Given the description of an element on the screen output the (x, y) to click on. 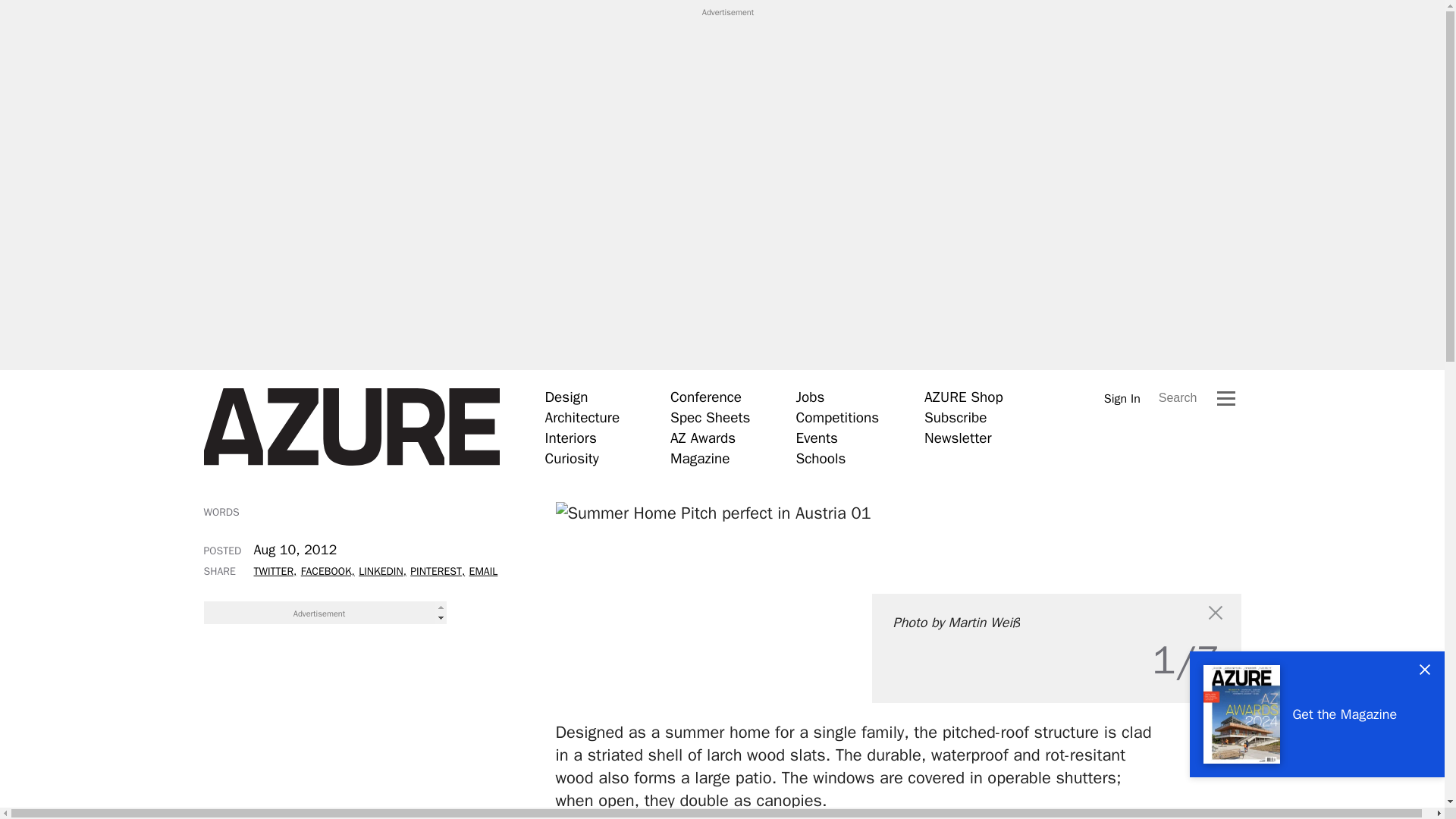
AZ Awards (702, 438)
Spec Sheets (709, 417)
Architecture (582, 417)
Search (1178, 397)
Azure Magazine (351, 426)
Events (815, 438)
Jobs (809, 397)
Magazine (699, 458)
Competitions (836, 417)
Subscribe (955, 417)
AZURE Shop (963, 397)
Conference (705, 397)
Sign In (1122, 398)
Design (566, 397)
Curiosity (571, 458)
